Given the description of an element on the screen output the (x, y) to click on. 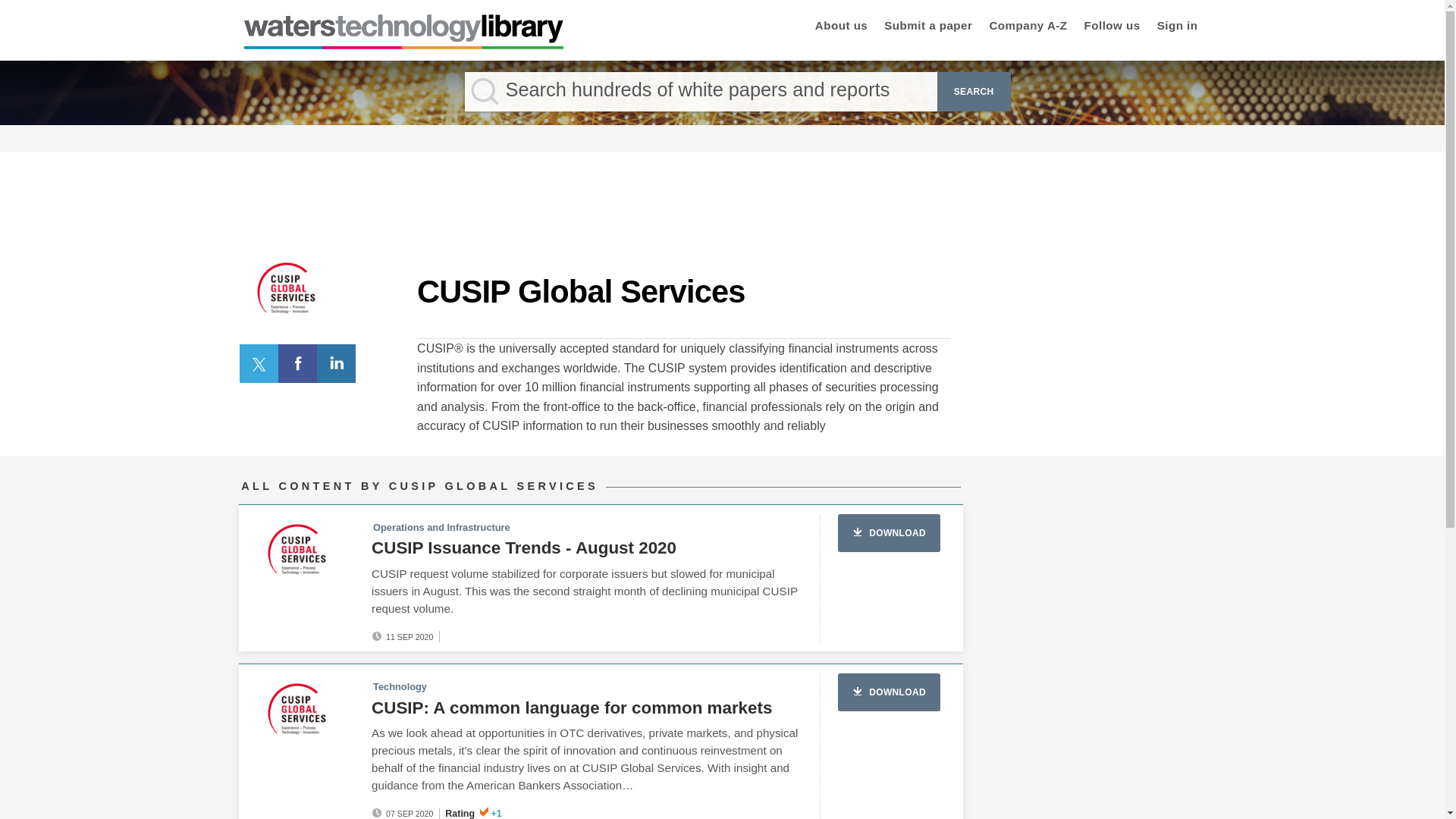
Tweet (259, 362)
CUSIP: A common language for common markets (571, 707)
Follow us (1112, 27)
Submit a paper (927, 27)
Sign in (1177, 27)
Company A-Z (1027, 27)
Search (973, 91)
Facebook (297, 362)
About us (841, 27)
LinkedIn (336, 362)
Company A-Z (1027, 27)
Sign in (1177, 27)
